Given the description of an element on the screen output the (x, y) to click on. 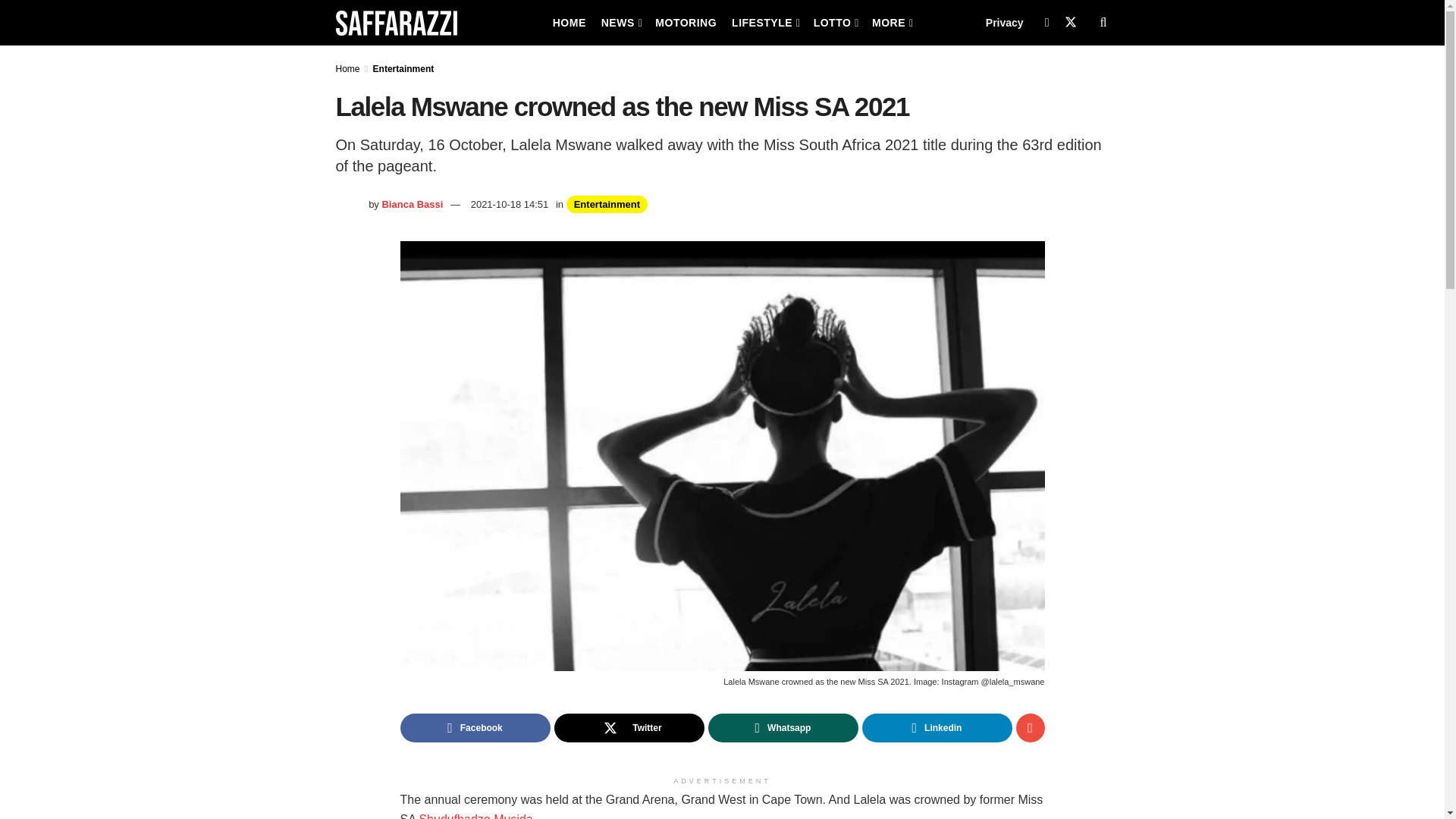
MORE (891, 22)
MOTORING (685, 22)
LOTTO (835, 22)
LIFESTYLE (764, 22)
NEWS (620, 22)
HOME (569, 22)
Privacy (1004, 22)
